Given the description of an element on the screen output the (x, y) to click on. 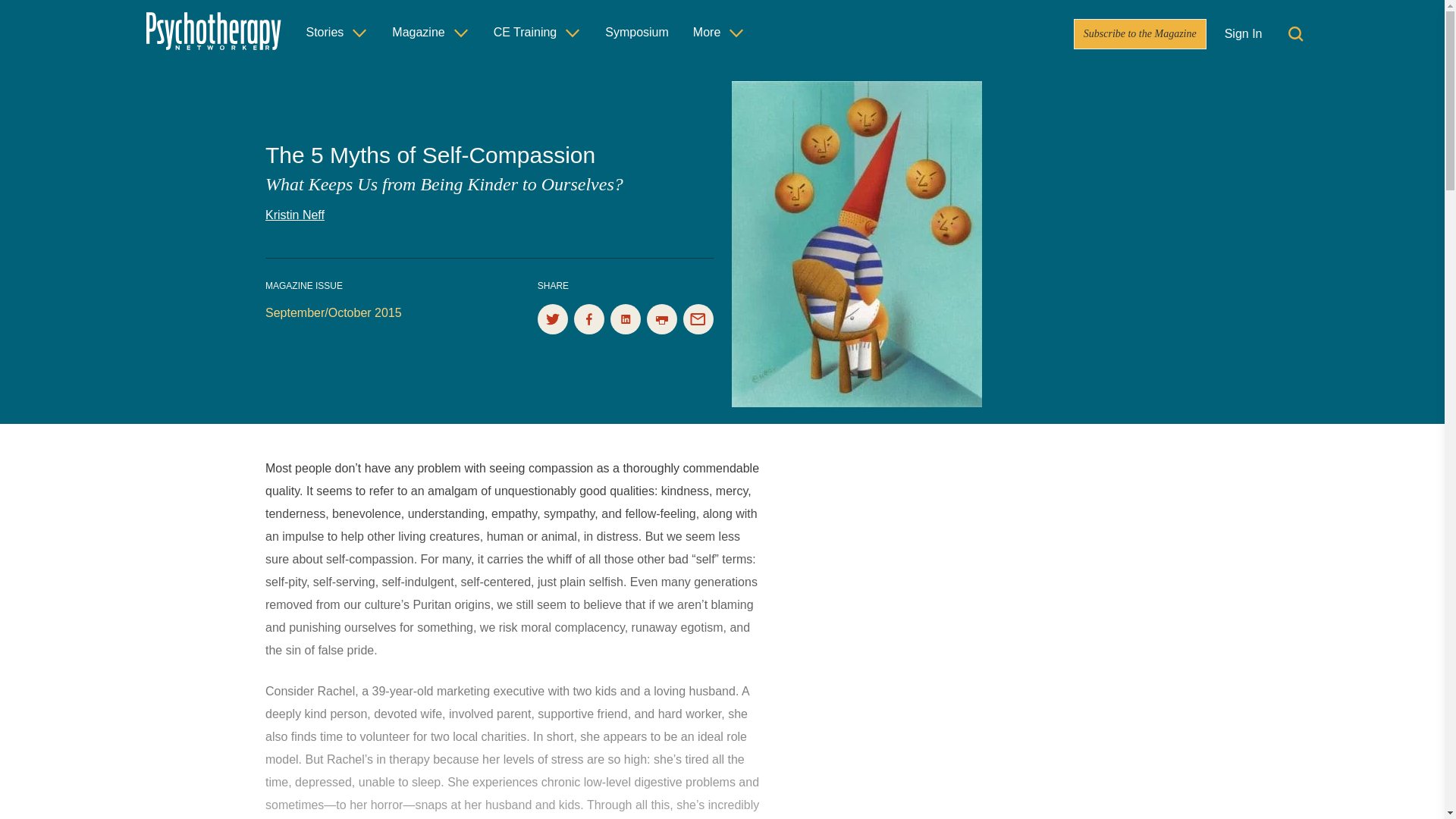
3rd party ad content (922, 533)
3rd party ad content (922, 729)
Stories (336, 31)
